Given the description of an element on the screen output the (x, y) to click on. 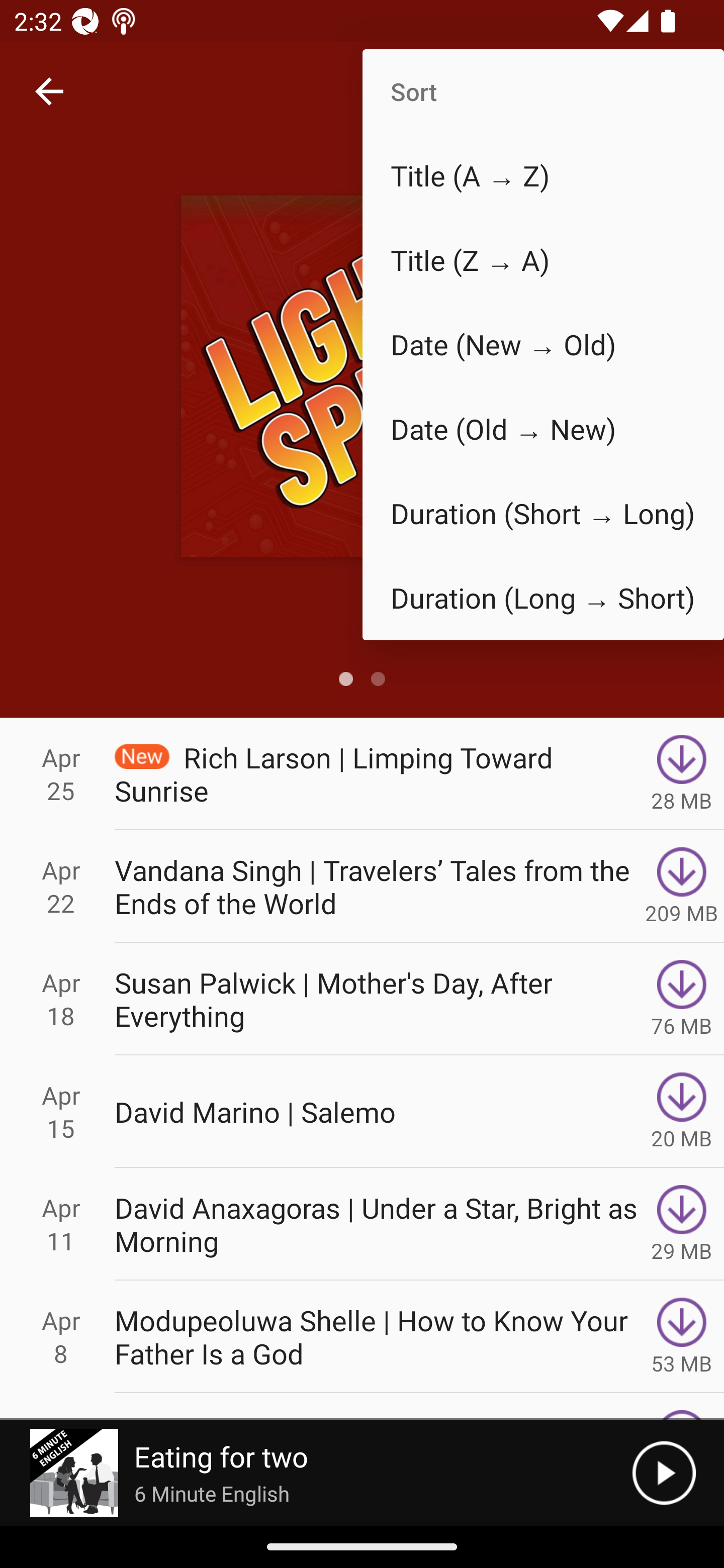
Title (A → Z) (543, 175)
Title (Z → A) (543, 259)
Date (New → Old) (543, 344)
Date (Old → New) (543, 429)
Duration (Short → Long) (543, 513)
Duration (Long → Short) (543, 597)
